Given the description of an element on the screen output the (x, y) to click on. 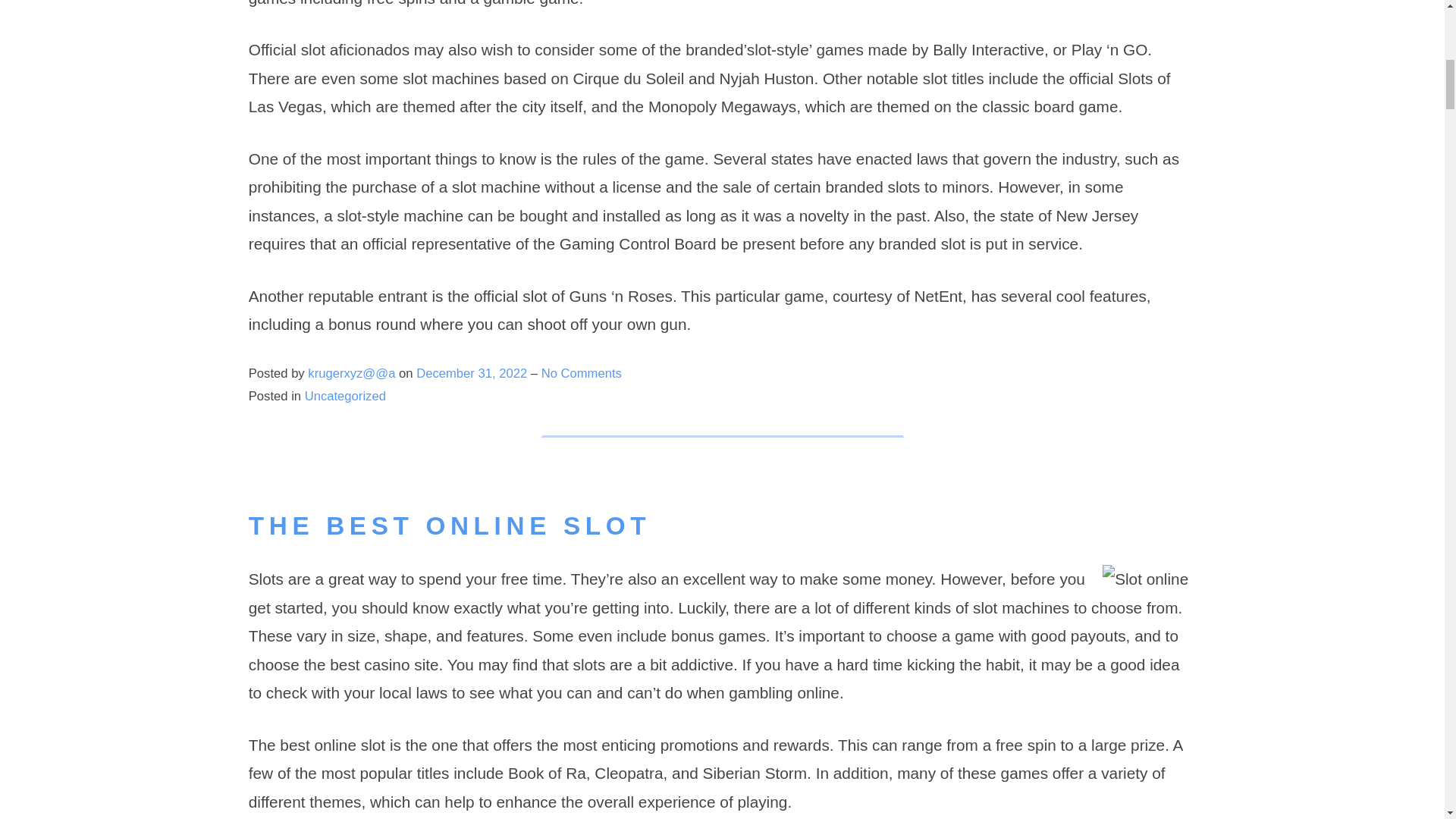
Uncategorized (344, 396)
December 31, 2022 (473, 373)
THE BEST ONLINE SLOT (449, 525)
No Comments (581, 373)
